Given the description of an element on the screen output the (x, y) to click on. 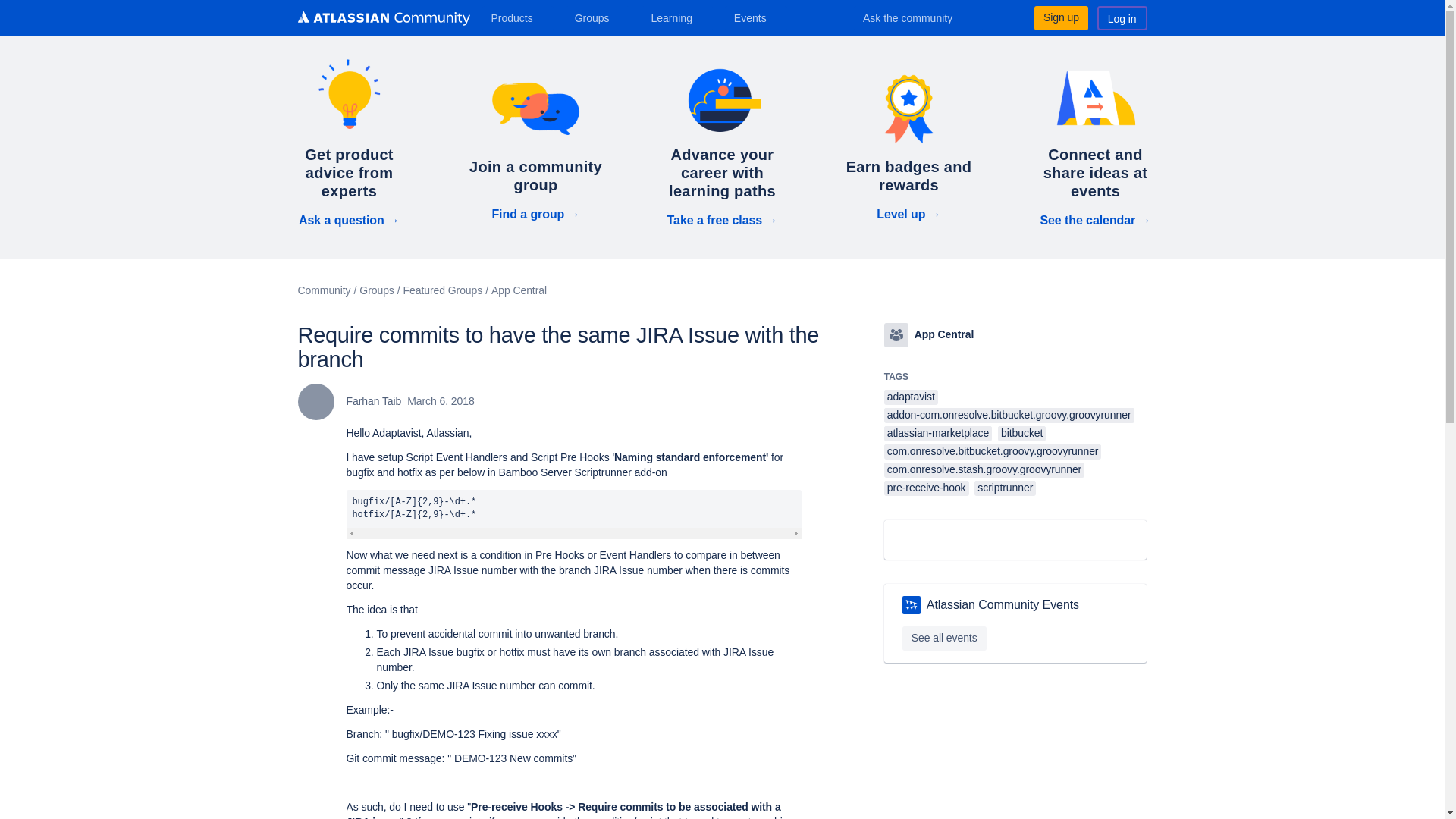
Learning (676, 17)
Ask the community  (917, 17)
Farhan Taib (315, 402)
Sign up (1060, 17)
Log in (1122, 17)
AUG Leaders (911, 605)
Atlassian Community logo (382, 18)
Products (517, 17)
Events (756, 17)
Atlassian Community logo (382, 19)
Groups (598, 17)
groups-icon (895, 334)
